Given the description of an element on the screen output the (x, y) to click on. 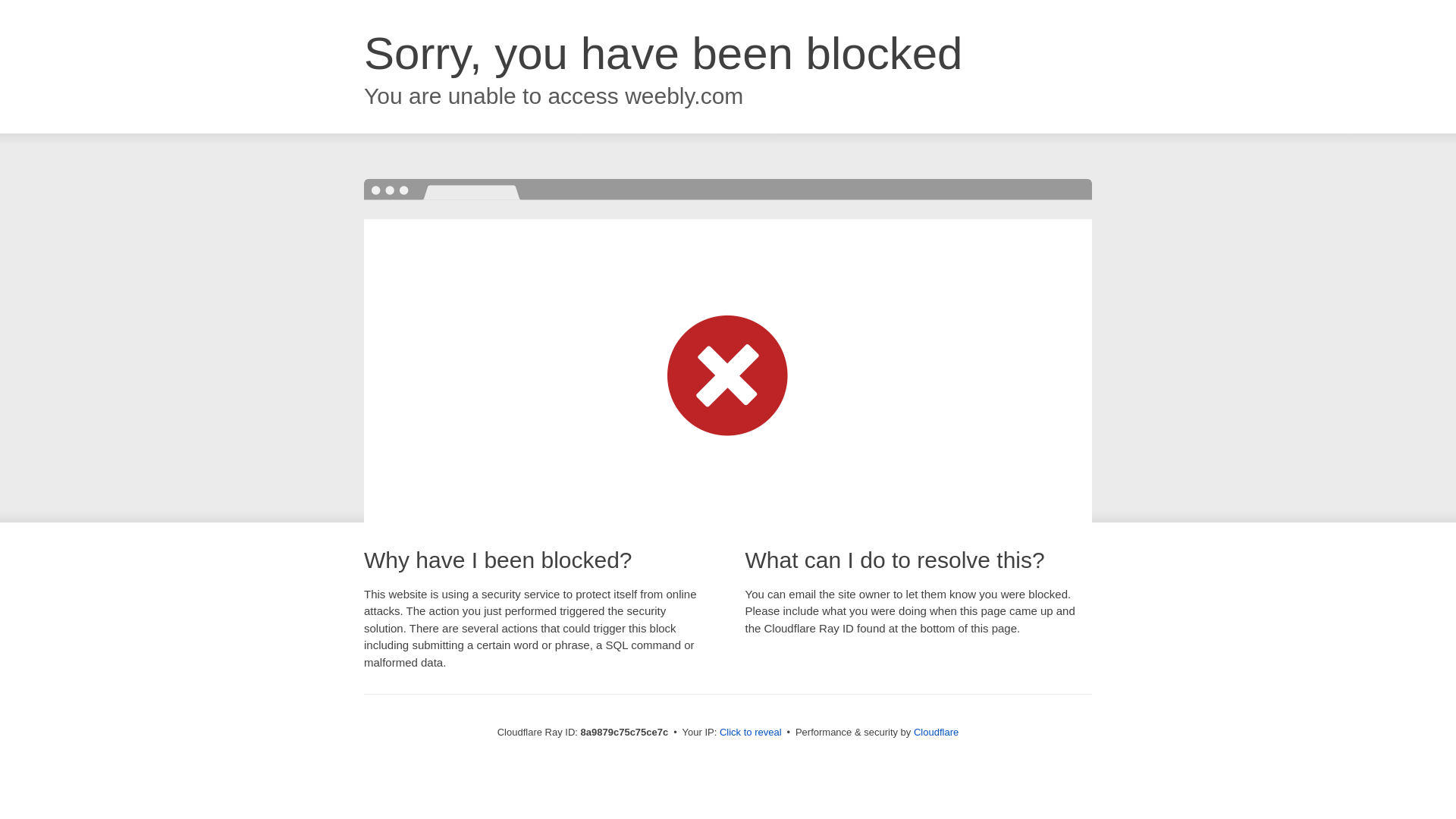
Click to reveal (750, 732)
Cloudflare (936, 731)
